Given the description of an element on the screen output the (x, y) to click on. 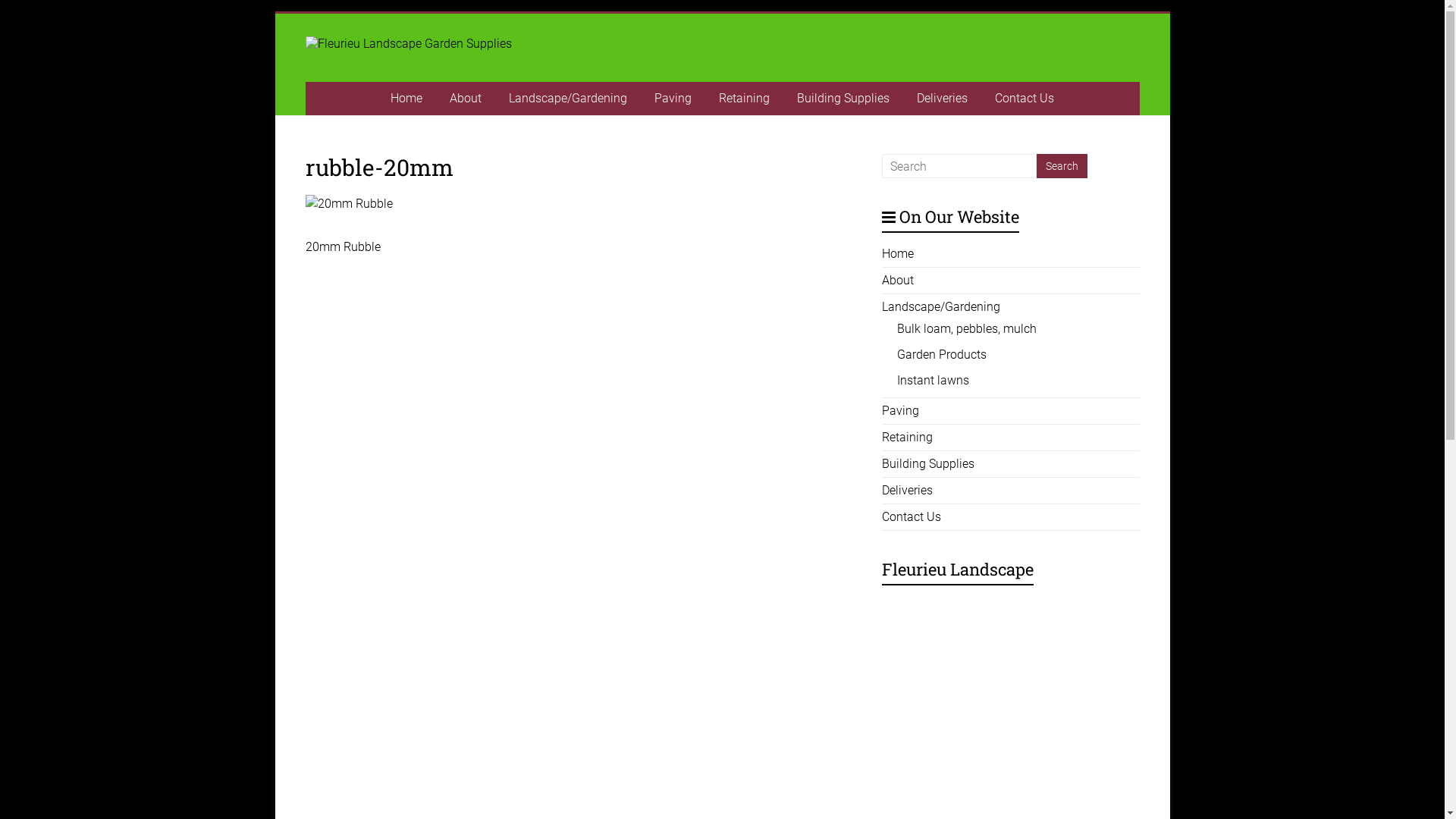
Retaining Element type: text (906, 436)
Building Supplies Element type: text (927, 463)
Contact Us Element type: text (1024, 98)
Landscape/Gardening Element type: text (567, 98)
Paving Element type: text (672, 98)
Garden Products Element type: text (941, 354)
Bulk loam, pebbles, mulch Element type: text (966, 328)
Search Element type: text (1060, 165)
Fleurieu Landscape Garden Supplies Element type: text (374, 100)
Deliveries Element type: text (906, 490)
About Element type: text (465, 98)
Home Element type: text (406, 98)
Landscape/Gardening Element type: text (940, 306)
Paving Element type: text (900, 410)
Instant lawns Element type: text (933, 380)
Deliveries Element type: text (941, 98)
Retaining Element type: text (743, 98)
Building Supplies Element type: text (842, 98)
About Element type: text (897, 280)
Home Element type: text (897, 253)
Skip to content Element type: text (274, 12)
Contact Us Element type: text (911, 516)
